Given the description of an element on the screen output the (x, y) to click on. 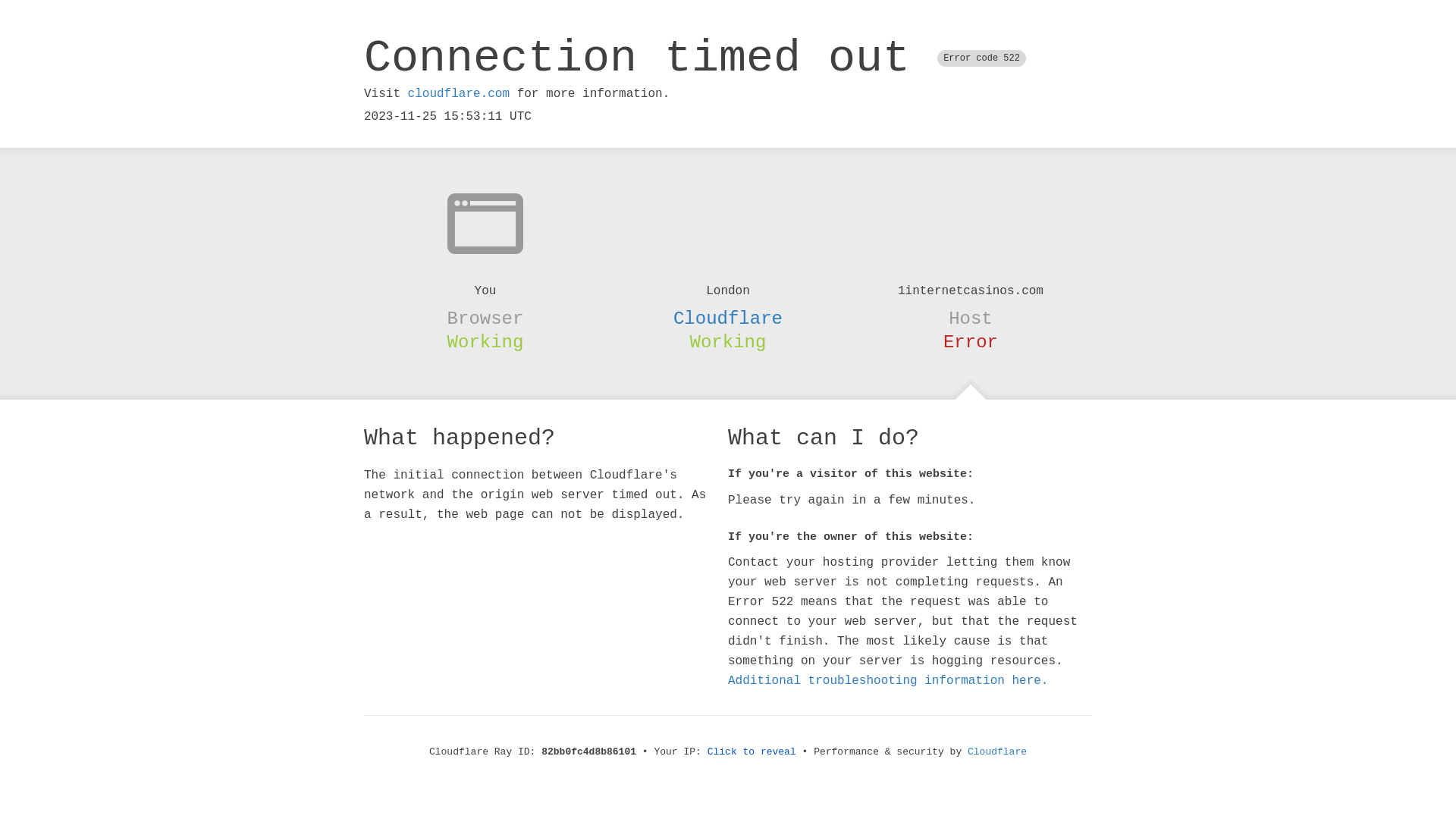
cloudflare.com Element type: text (458, 93)
Cloudflare Element type: text (996, 751)
Additional troubleshooting information here. Element type: text (888, 680)
Click to reveal Element type: text (751, 751)
Cloudflare Element type: text (727, 318)
